Given the description of an element on the screen output the (x, y) to click on. 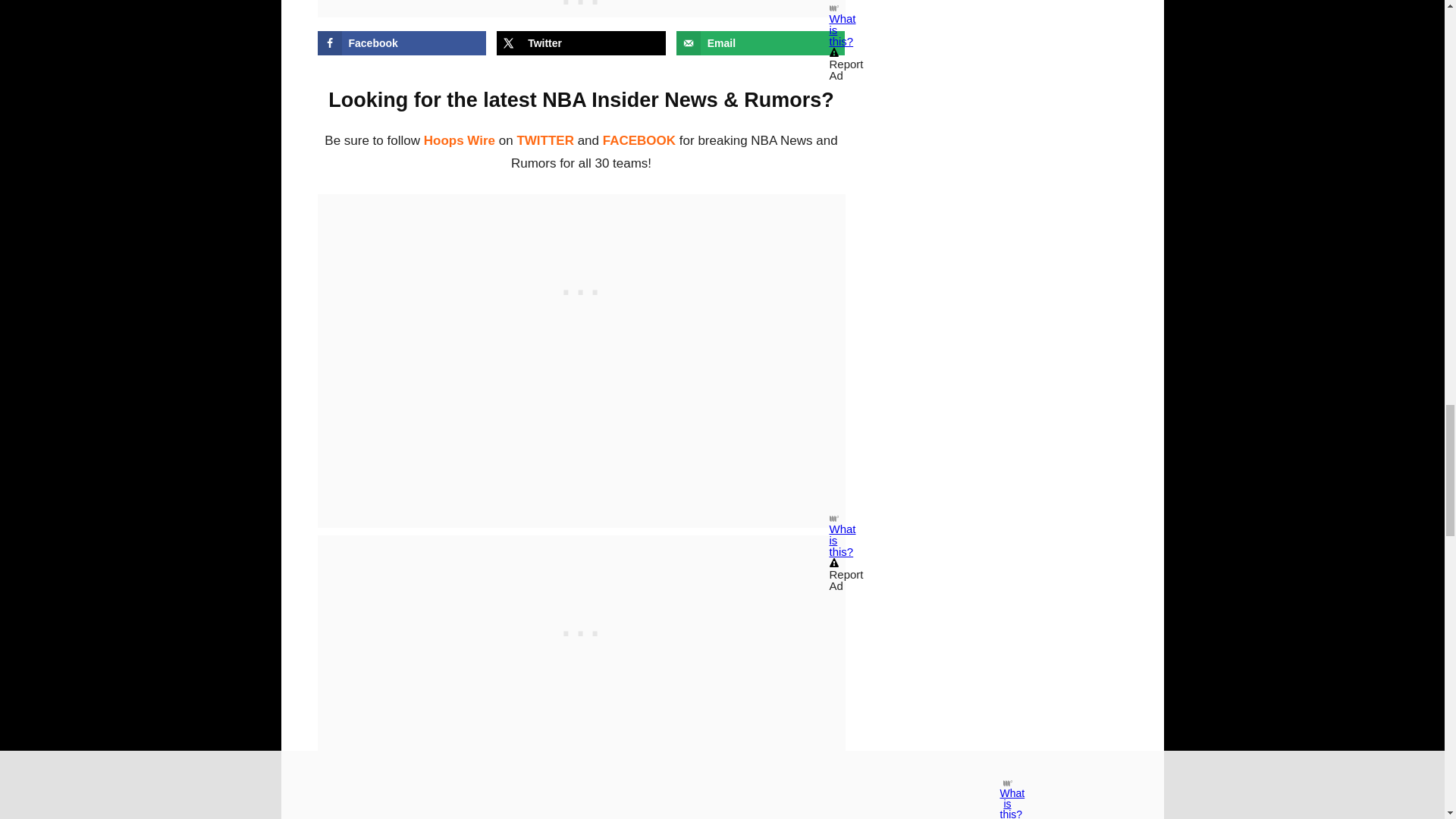
Send over email (761, 43)
Share on Facebook (401, 43)
3rd party ad content (580, 289)
3rd party ad content (580, 629)
Share on X (580, 43)
